Given the description of an element on the screen output the (x, y) to click on. 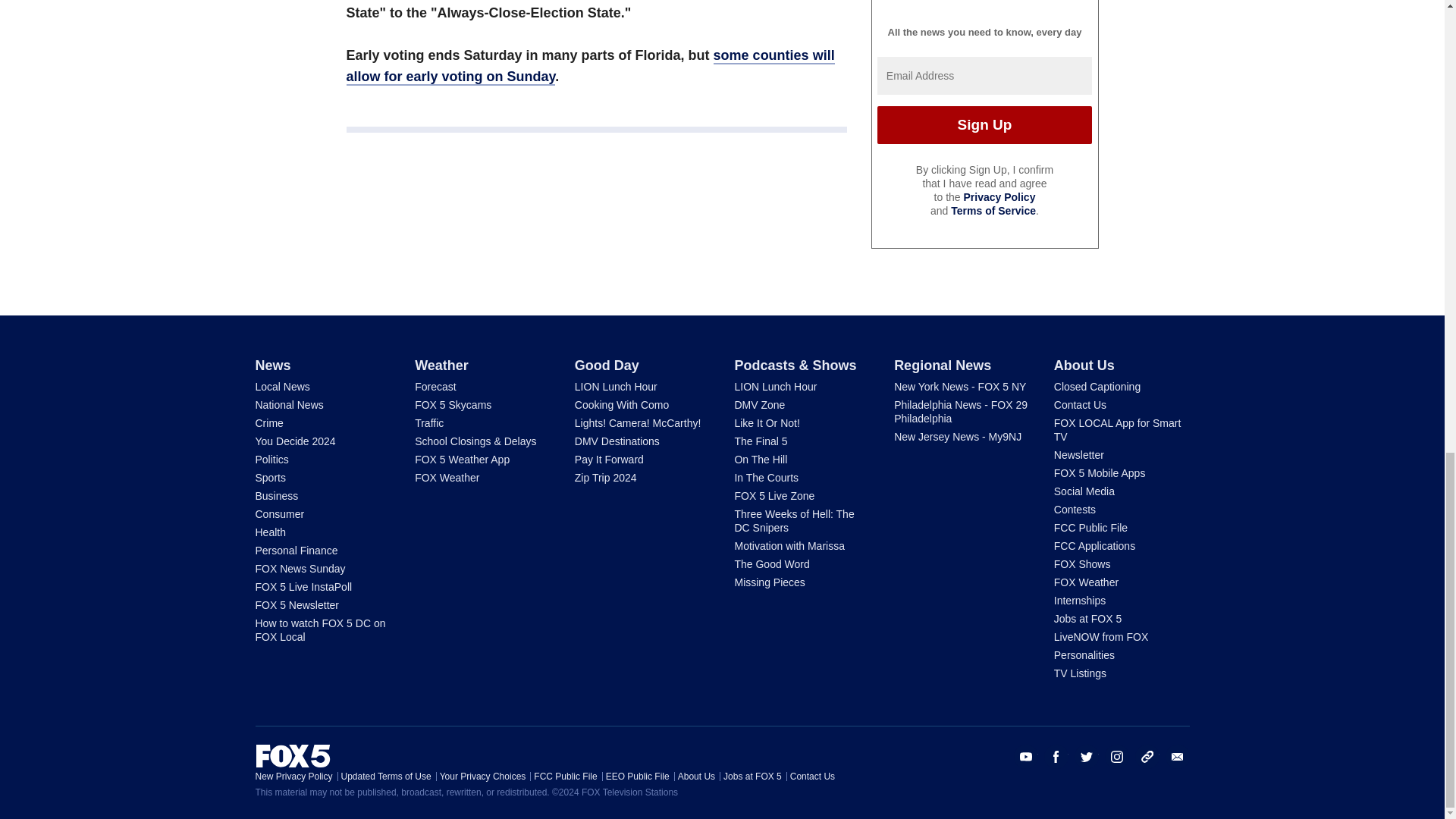
Sign Up (984, 125)
